Given the description of an element on the screen output the (x, y) to click on. 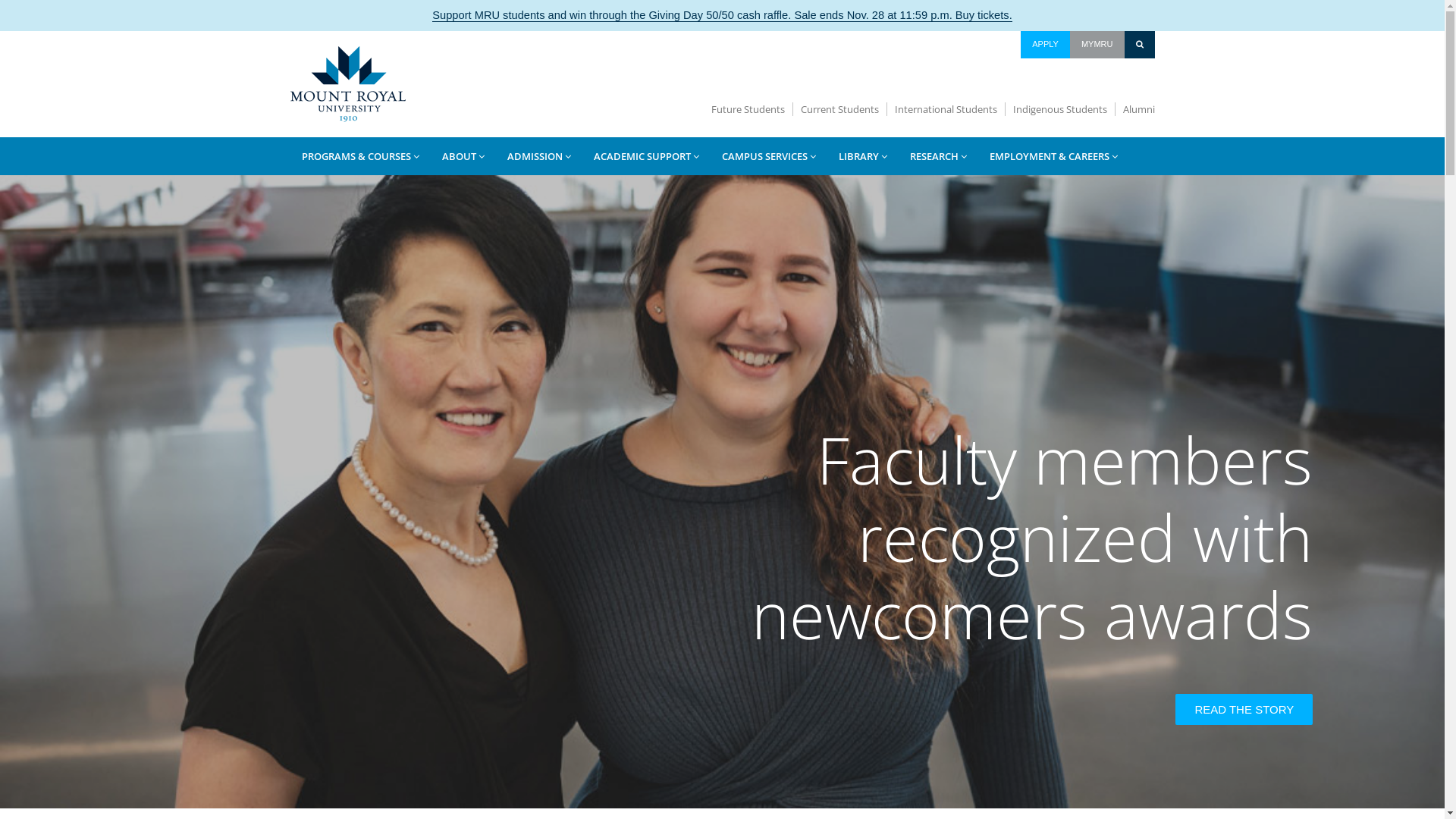
ACADEMIC SUPPORT Element type: text (646, 156)
Current Students Element type: text (840, 109)
Future Students Element type: text (748, 109)
RESEARCH Element type: text (937, 156)
APPLY Element type: text (1045, 44)
Alumni Element type: text (1134, 109)
EMPLOYMENT & CAREERS Element type: text (1053, 156)
International Students Element type: text (946, 109)
Open search Element type: hover (1139, 44)
PROGRAMS & COURSES Element type: text (359, 156)
MYMRU Element type: text (1097, 44)
CAMPUS SERVICES Element type: text (767, 156)
READ THE STORY Element type: text (1243, 708)
ABOUT Element type: text (462, 156)
ADMISSION Element type: text (538, 156)
LIBRARY Element type: text (861, 156)
Indigenous Students Element type: text (1060, 109)
